Given the description of an element on the screen output the (x, y) to click on. 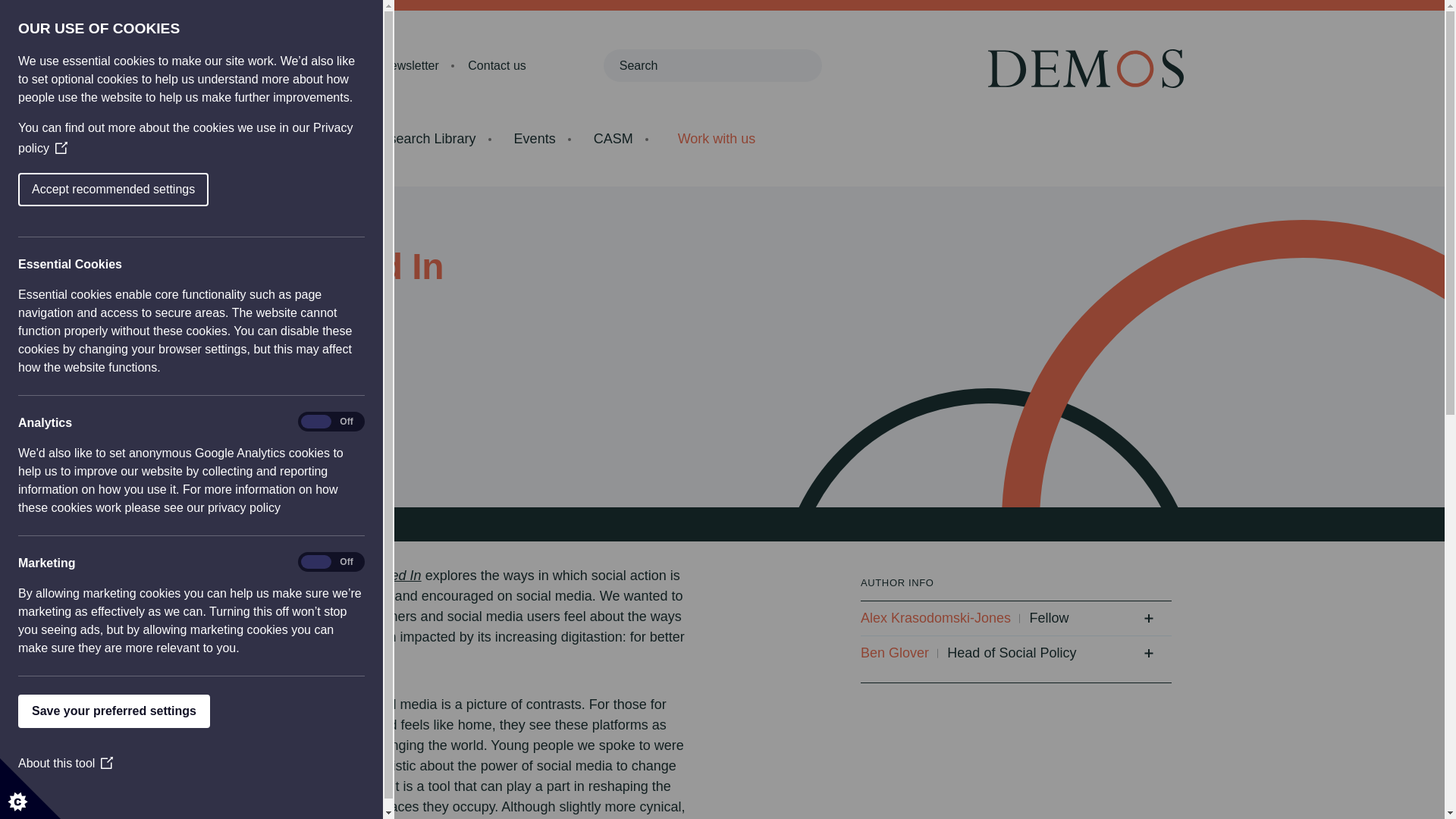
What we do (298, 138)
Demos (1094, 68)
Work with us (716, 139)
Newsletter (410, 65)
Research Library (424, 138)
CASM (613, 138)
About (276, 65)
Events (534, 138)
Contact us (496, 65)
News (336, 65)
